Given the description of an element on the screen output the (x, y) to click on. 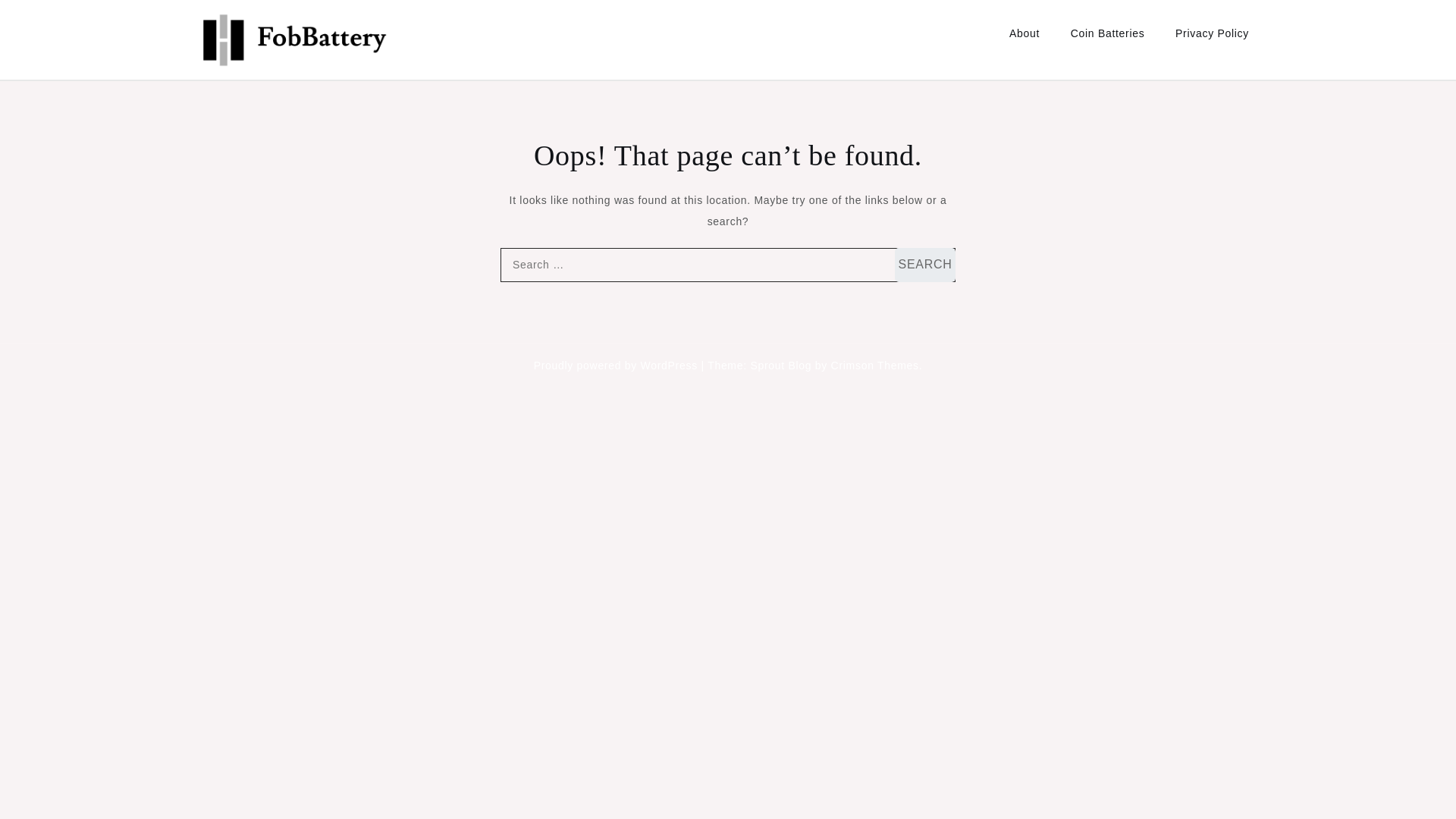
Search (925, 264)
About (1023, 33)
FobBattery (255, 83)
Search (925, 264)
Search (925, 264)
Privacy Policy (1211, 33)
Coin Batteries (1107, 33)
